Given the description of an element on the screen output the (x, y) to click on. 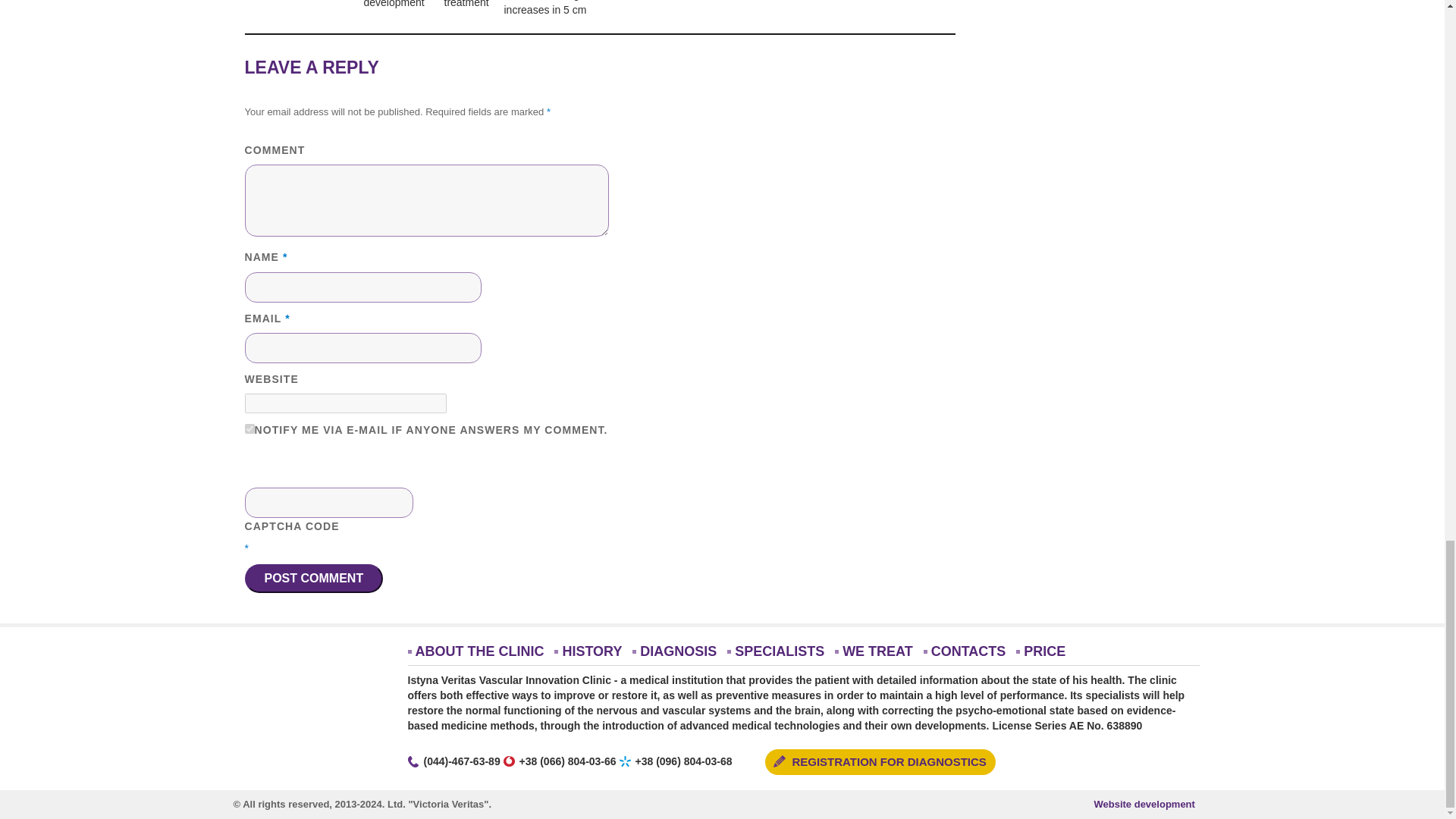
Refresh (352, 460)
Post Comment (313, 578)
on (248, 429)
